Given the description of an element on the screen output the (x, y) to click on. 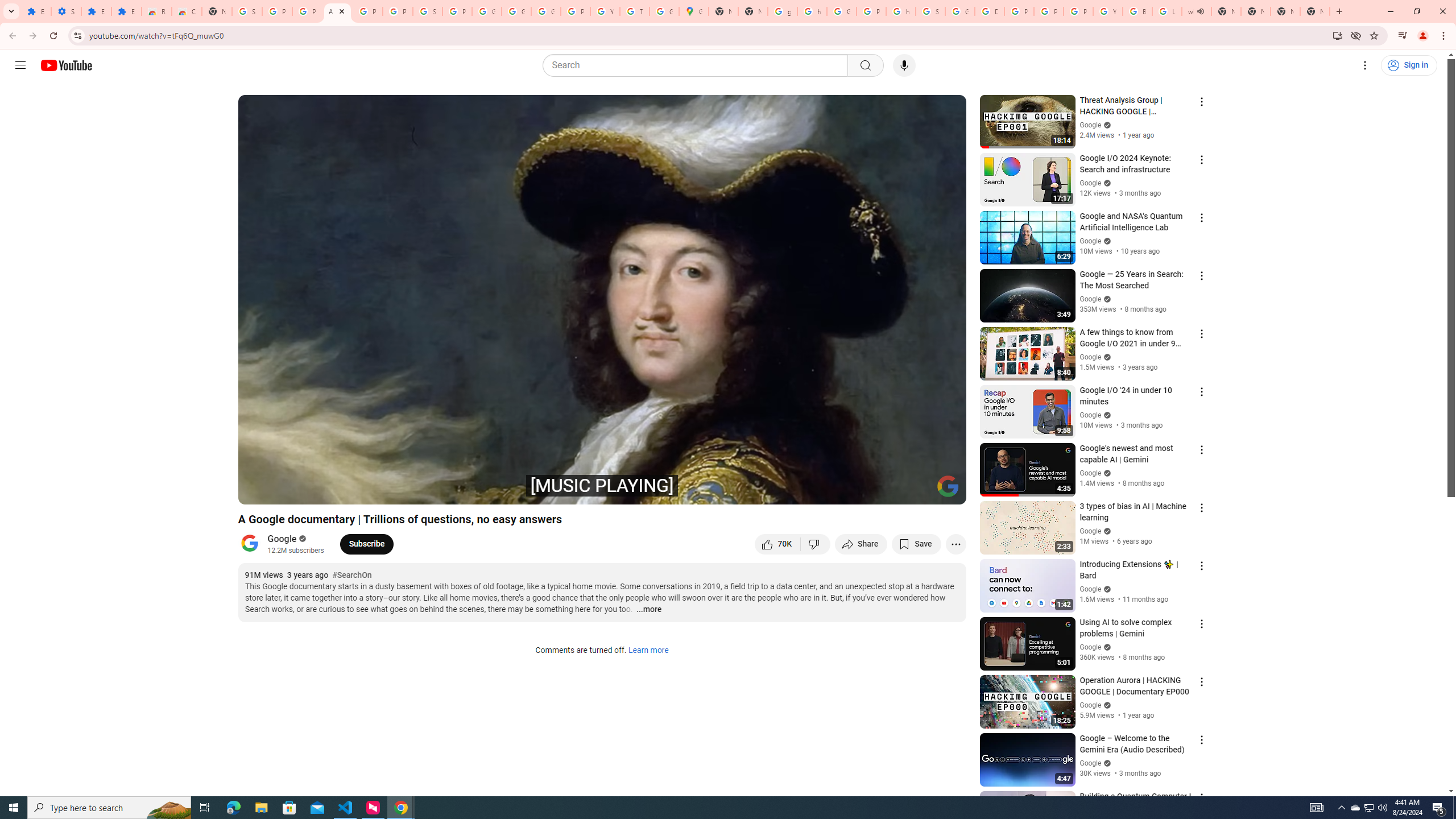
New Tab (1314, 11)
Install YouTube (1336, 35)
Extensions (126, 11)
Google Account (486, 11)
Autoplay is on (808, 490)
Sign in - Google Accounts (930, 11)
https://scholar.google.com/ (900, 11)
Privacy Help Center - Policies Help (1018, 11)
Learn more (647, 650)
Theater mode (t) (917, 490)
